Given the description of an element on the screen output the (x, y) to click on. 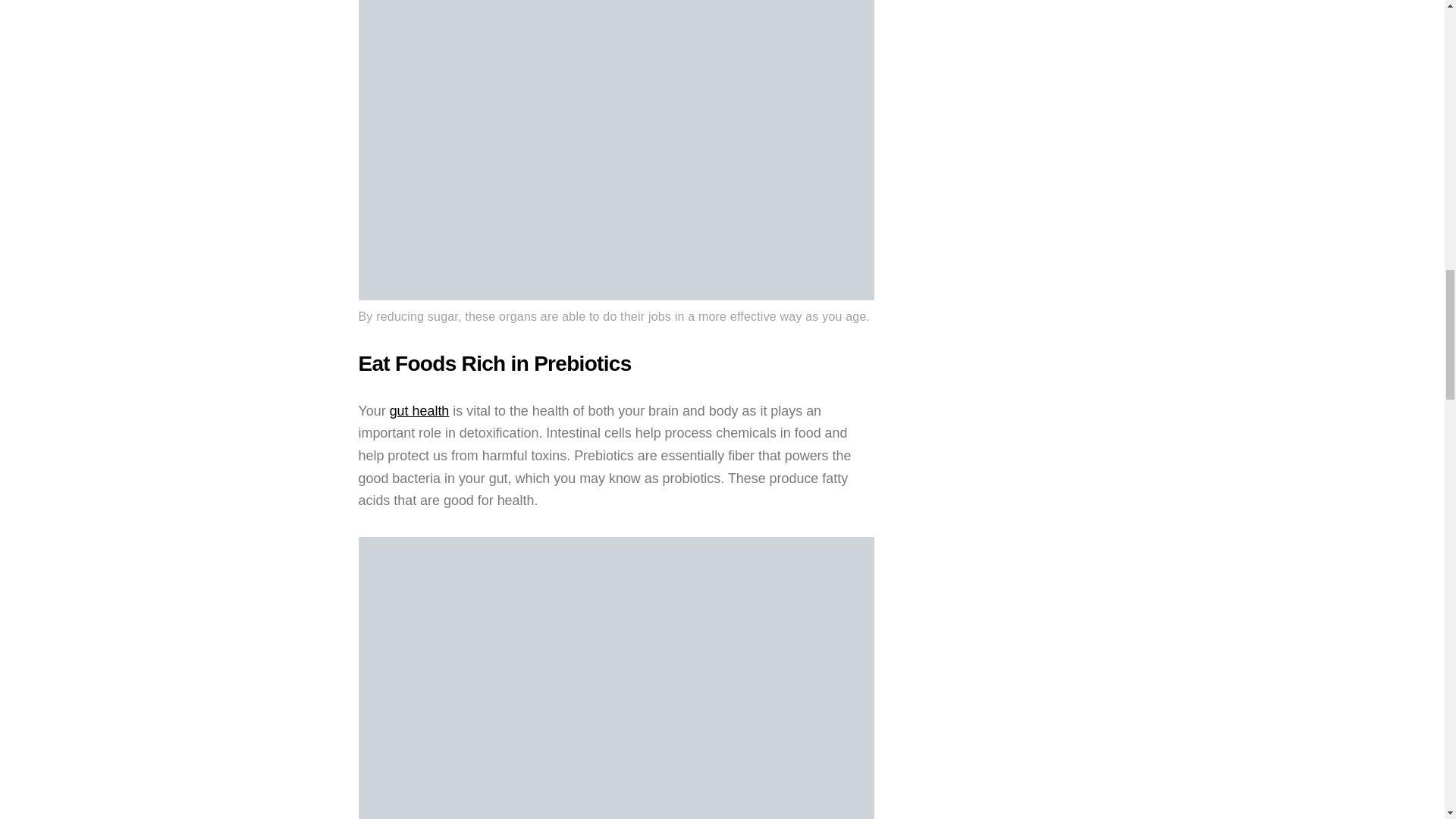
gut health (419, 410)
